Given the description of an element on the screen output the (x, y) to click on. 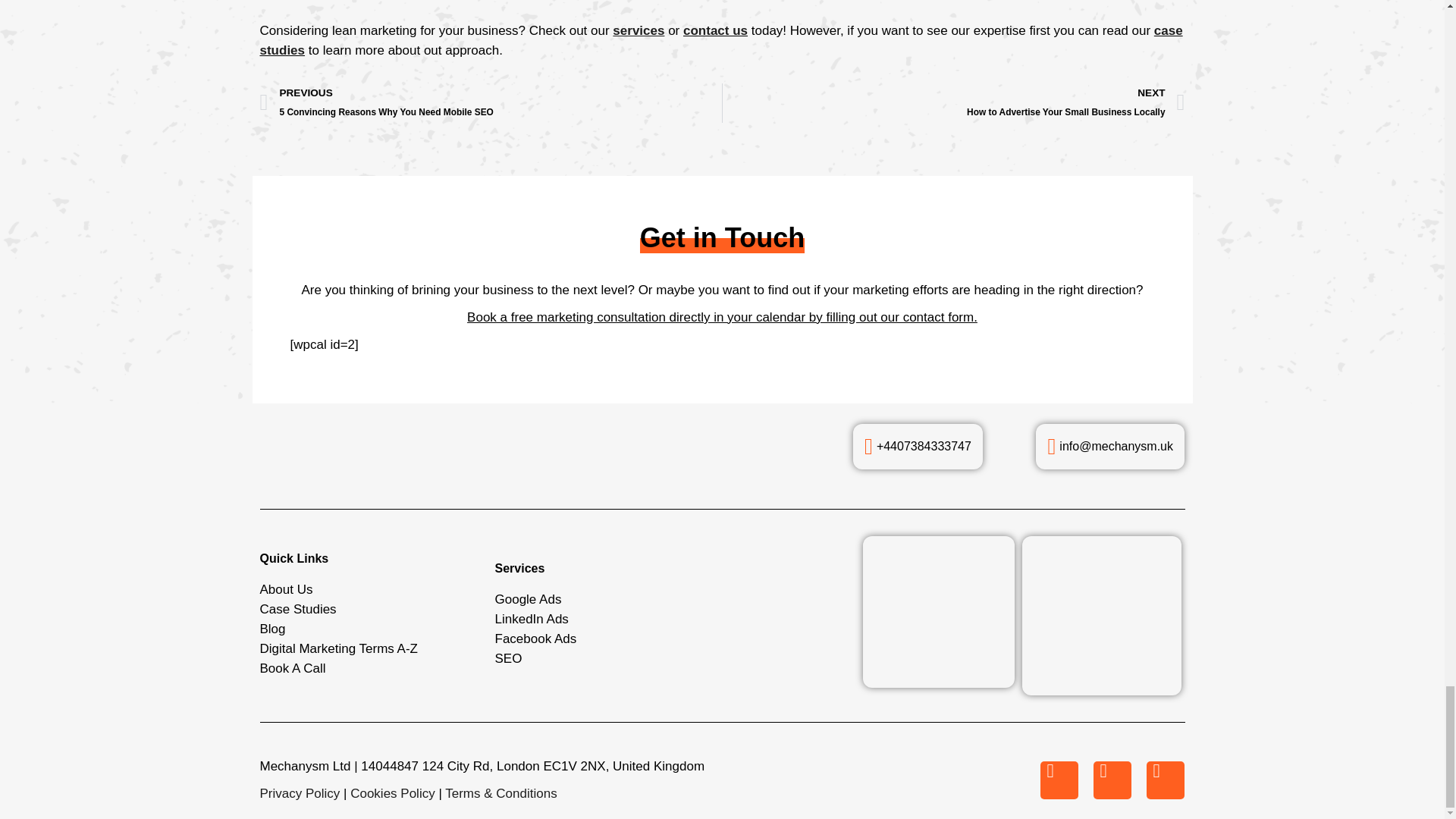
Cim (1101, 615)
Meta certification (938, 611)
